Given the description of an element on the screen output the (x, y) to click on. 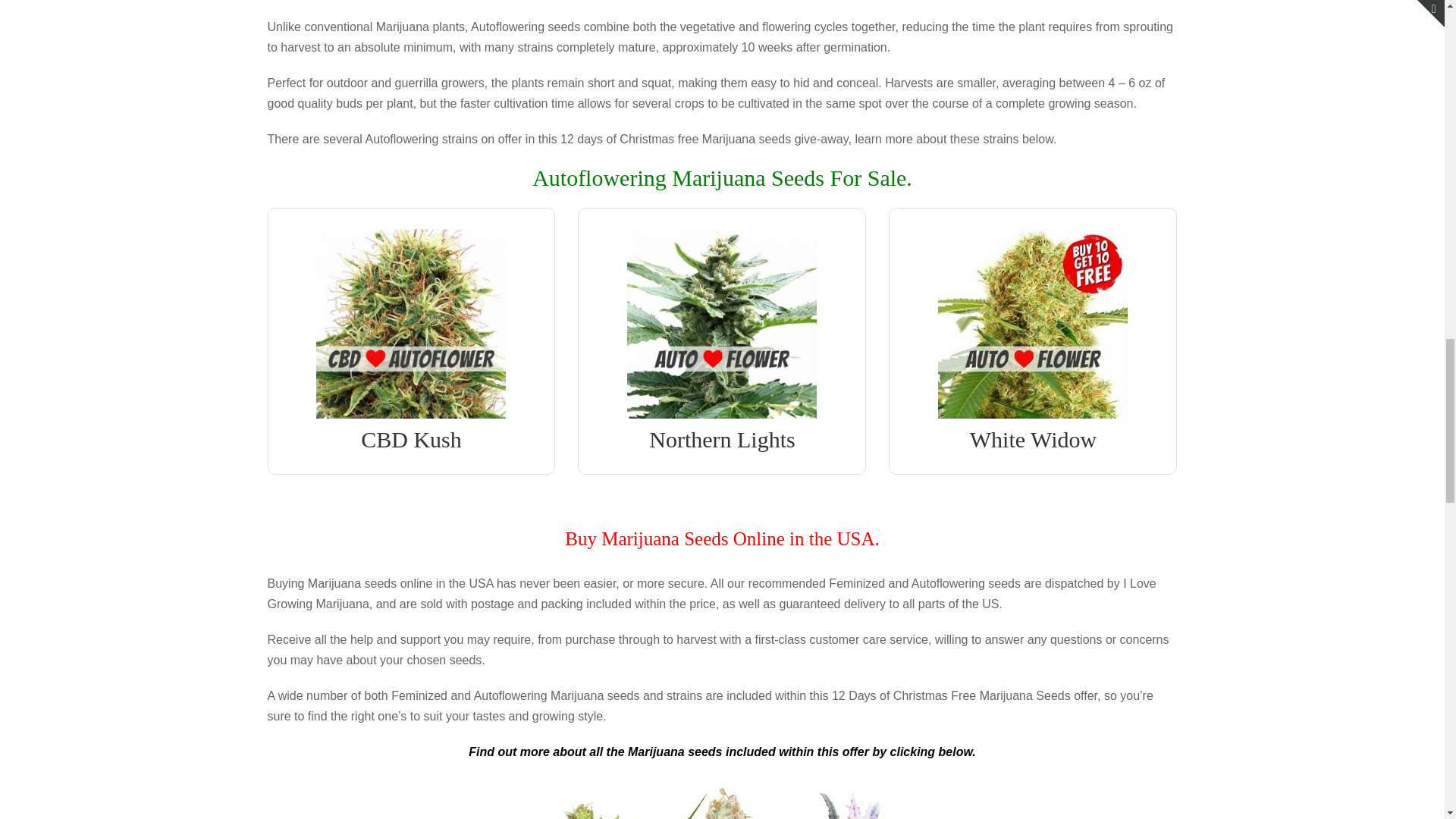
VIEW PRODUCT (1032, 245)
VIEW PRODUCT (411, 245)
VIEW PRODUCT (721, 245)
